Given the description of an element on the screen output the (x, y) to click on. 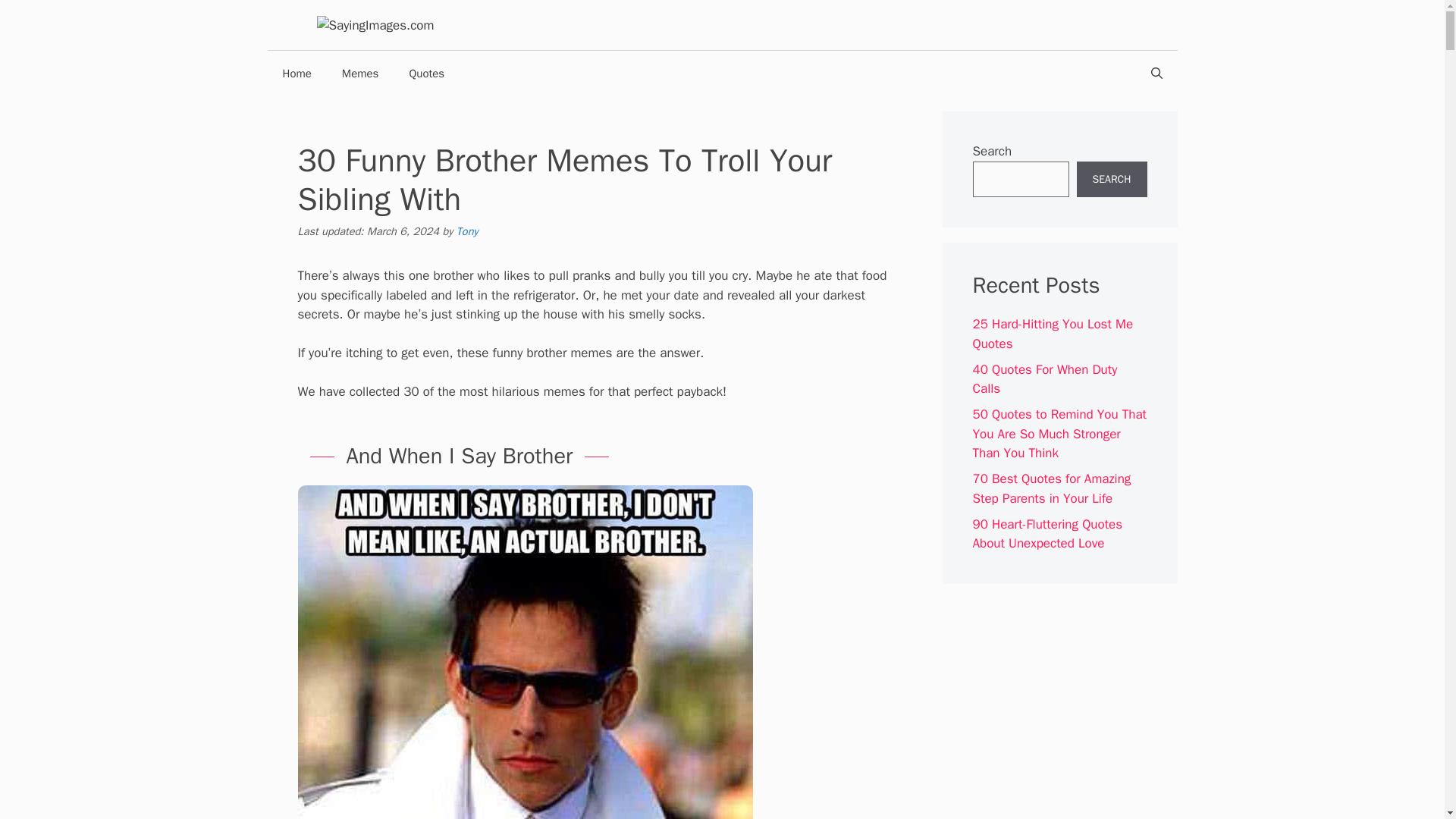
Tony (468, 231)
Memes (360, 73)
SEARCH (1112, 179)
40 Quotes For When Duty Calls (1044, 379)
70 Best Quotes for Amazing Step Parents in Your Life (1051, 488)
90 Heart-Fluttering Quotes About Unexpected Love (1047, 534)
25 Hard-Hitting You Lost Me Quotes (1052, 334)
Home (296, 73)
Quotes (426, 73)
